Given the description of an element on the screen output the (x, y) to click on. 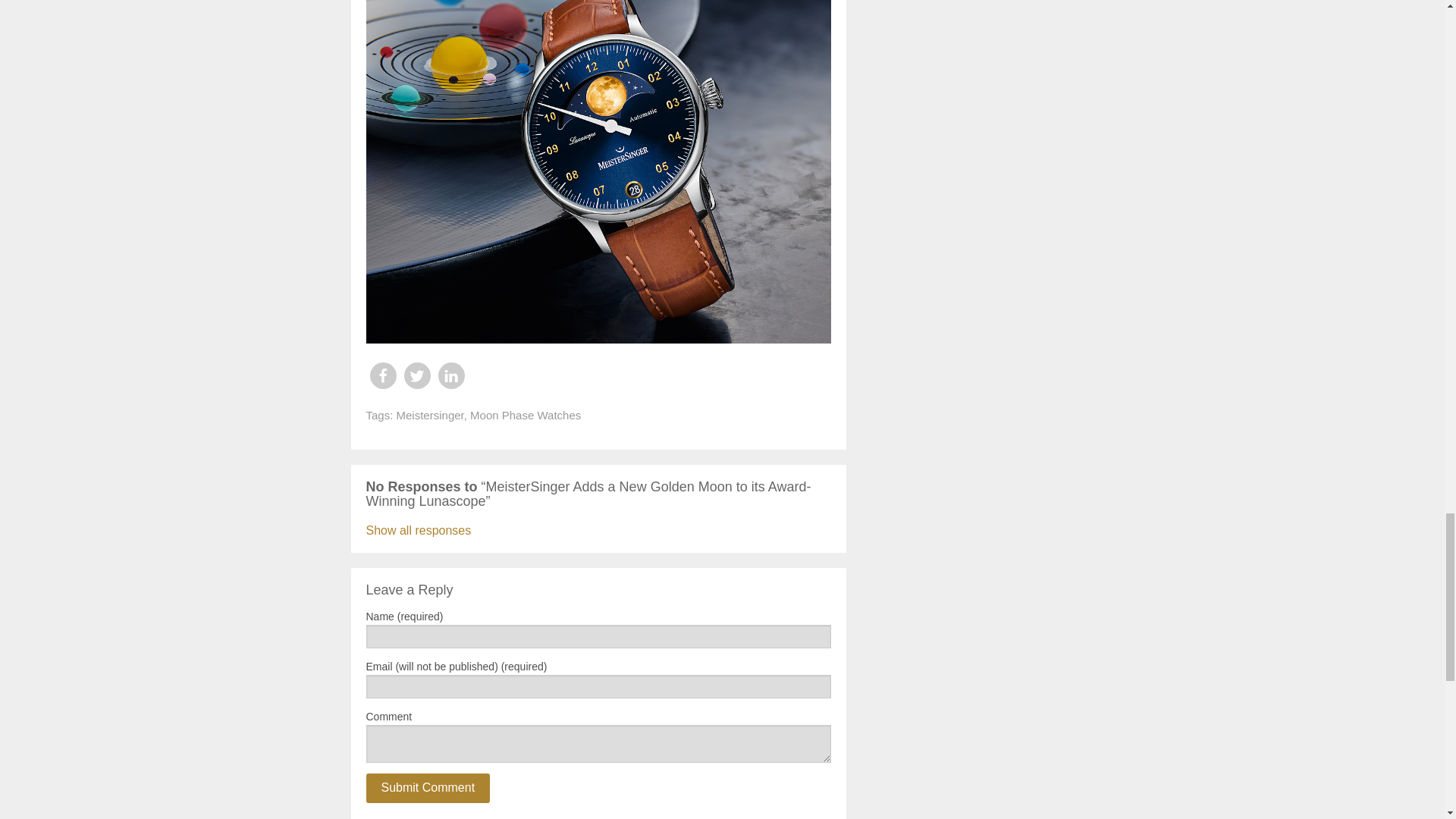
Share on Facebook (382, 375)
Share on Twitter (416, 375)
Share on LinkedIn (451, 375)
Submit Comment (427, 788)
